Given the description of an element on the screen output the (x, y) to click on. 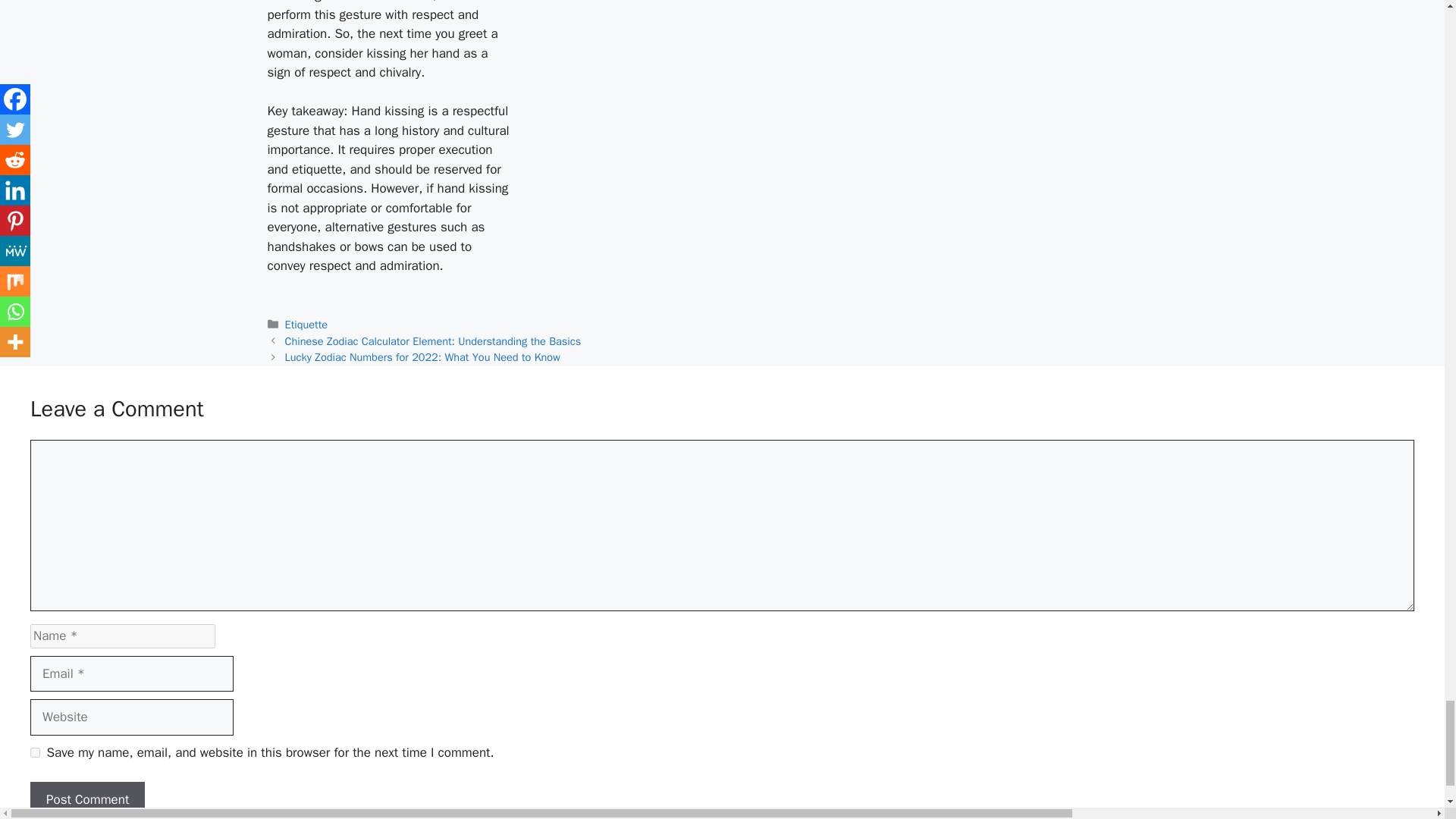
Chinese Zodiac Calculator Element: Understanding the Basics (432, 341)
Etiquette (307, 324)
yes (35, 752)
Lucky Zodiac Numbers for 2022: What You Need to Know (422, 356)
Post Comment (87, 800)
